Given the description of an element on the screen output the (x, y) to click on. 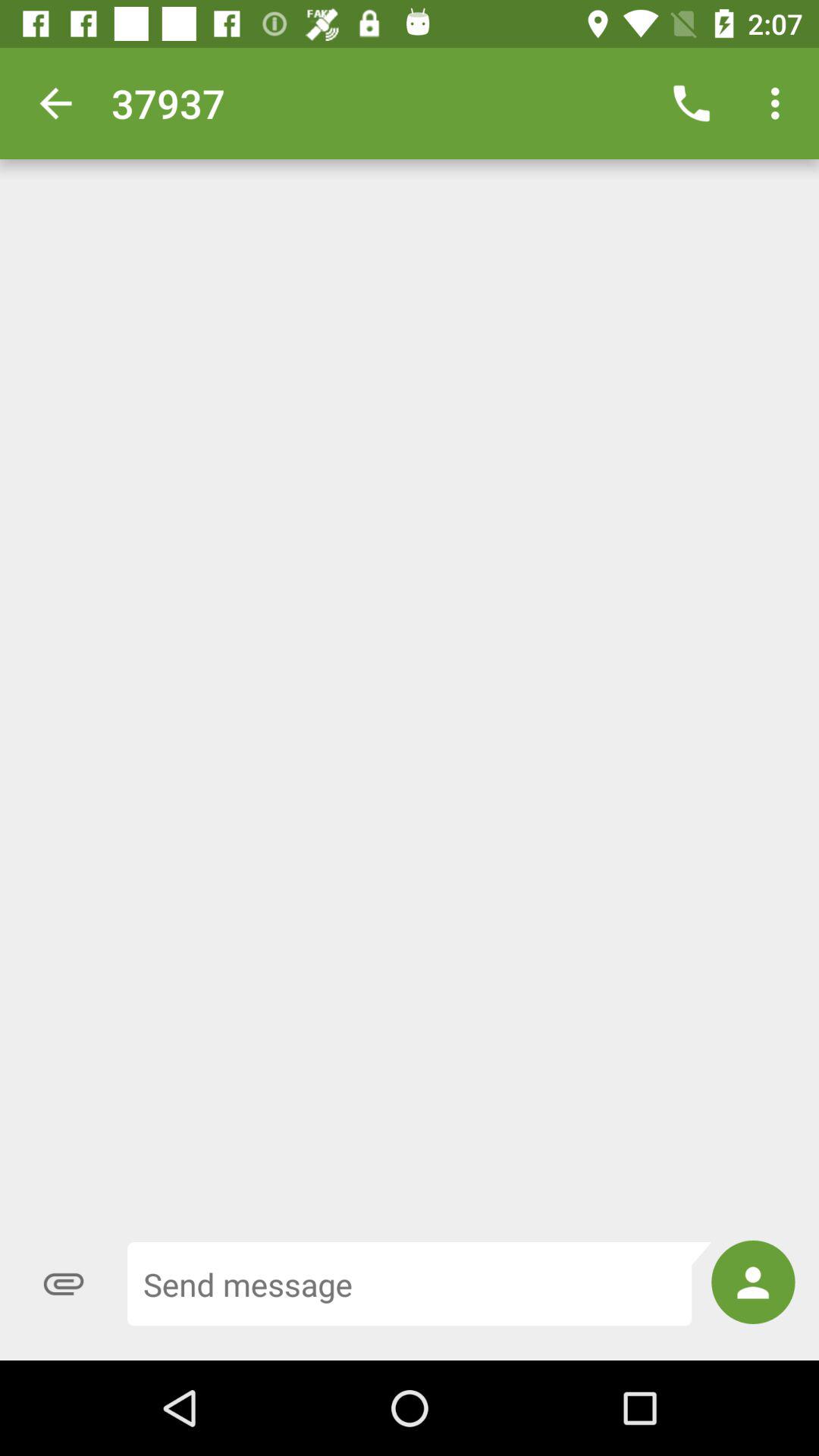
press icon at the top left corner (55, 103)
